Given the description of an element on the screen output the (x, y) to click on. 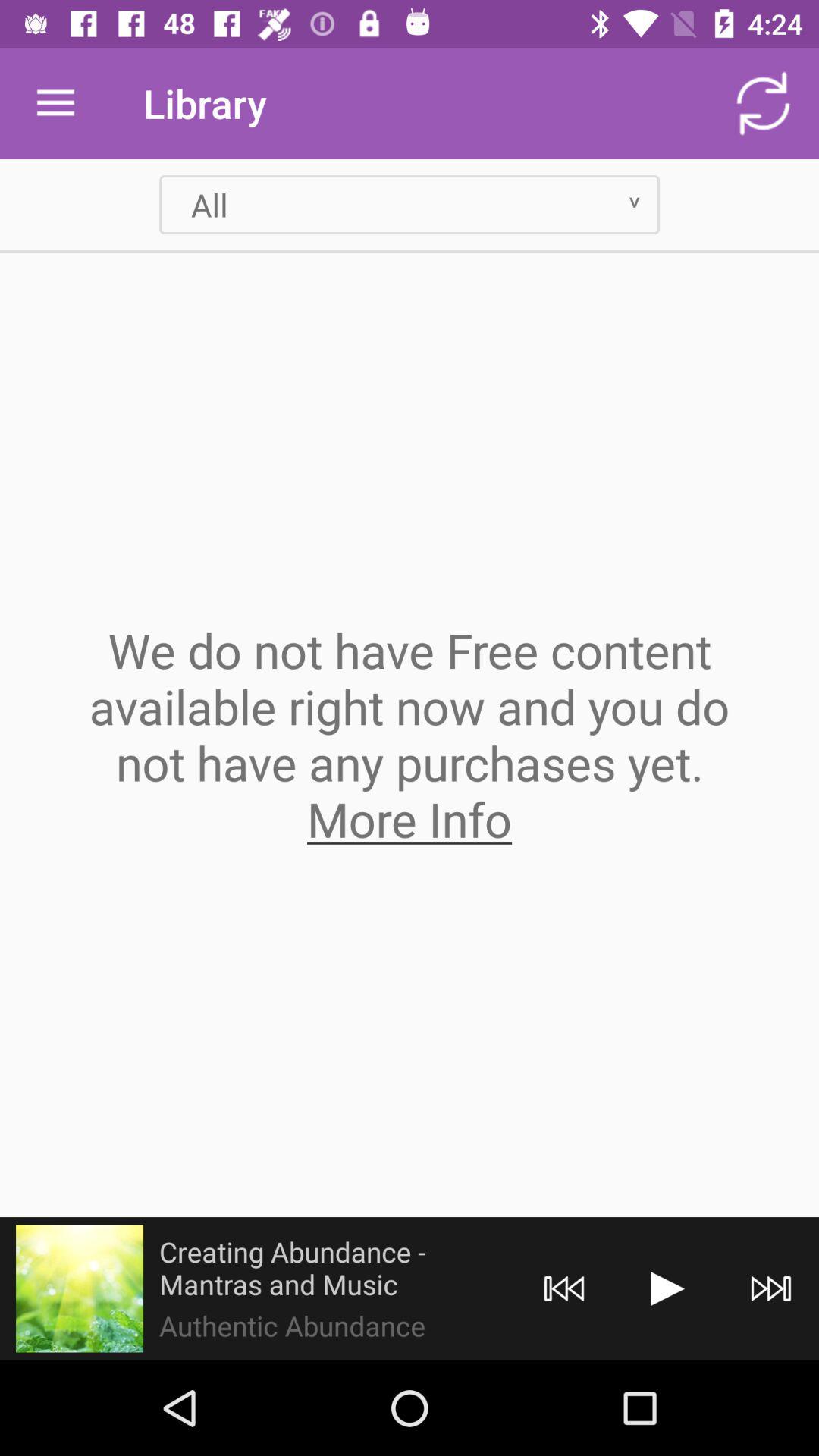
maximize cover art (79, 1288)
